Given the description of an element on the screen output the (x, y) to click on. 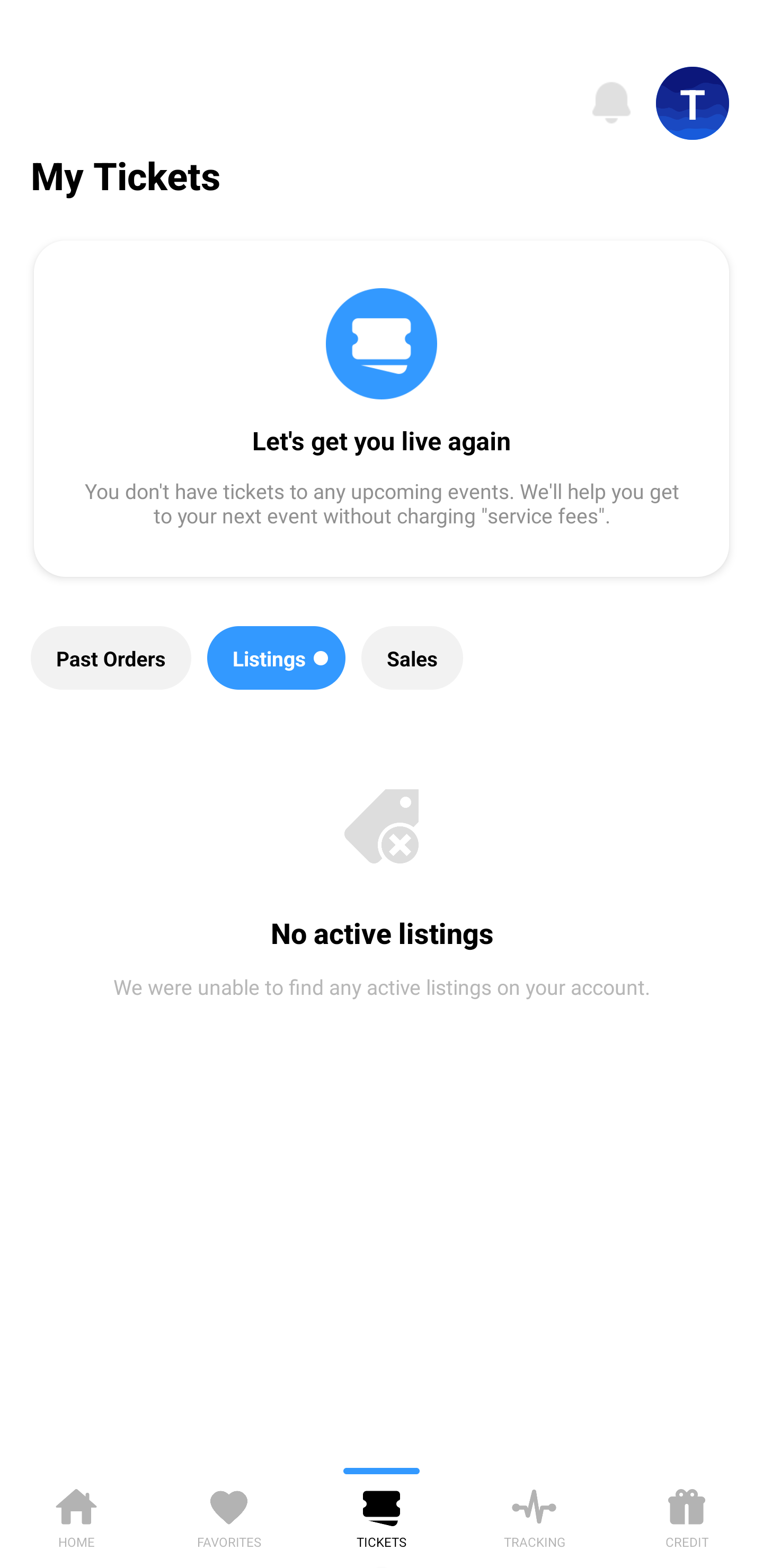
T (692, 103)
Past Orders (110, 657)
Listings (276, 657)
Sales (412, 657)
HOME (76, 1515)
FAVORITES (228, 1515)
TICKETS (381, 1515)
TRACKING (533, 1515)
CREDIT (686, 1515)
